Given the description of an element on the screen output the (x, y) to click on. 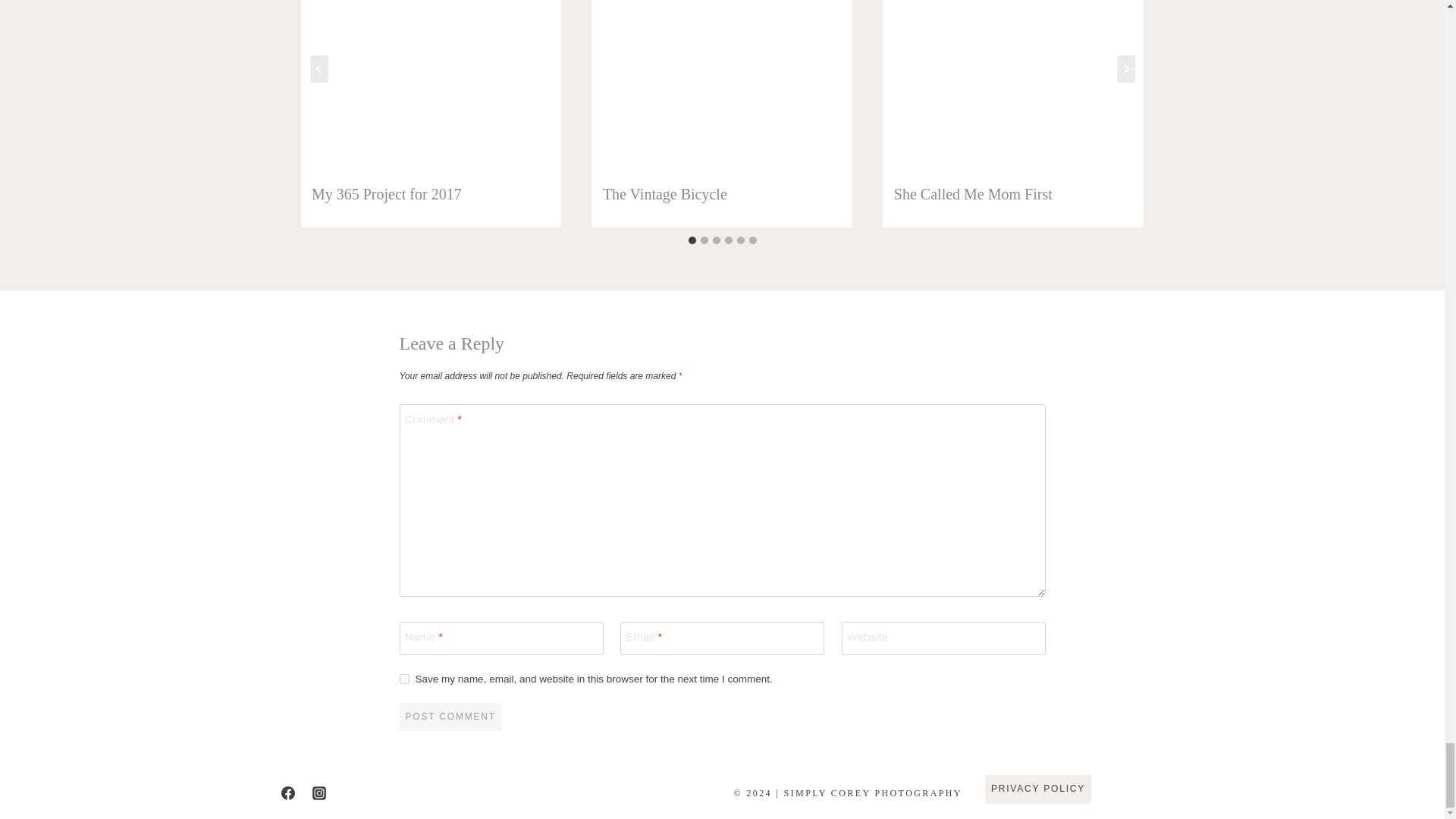
yes (403, 678)
Post Comment (449, 717)
